Given the description of an element on the screen output the (x, y) to click on. 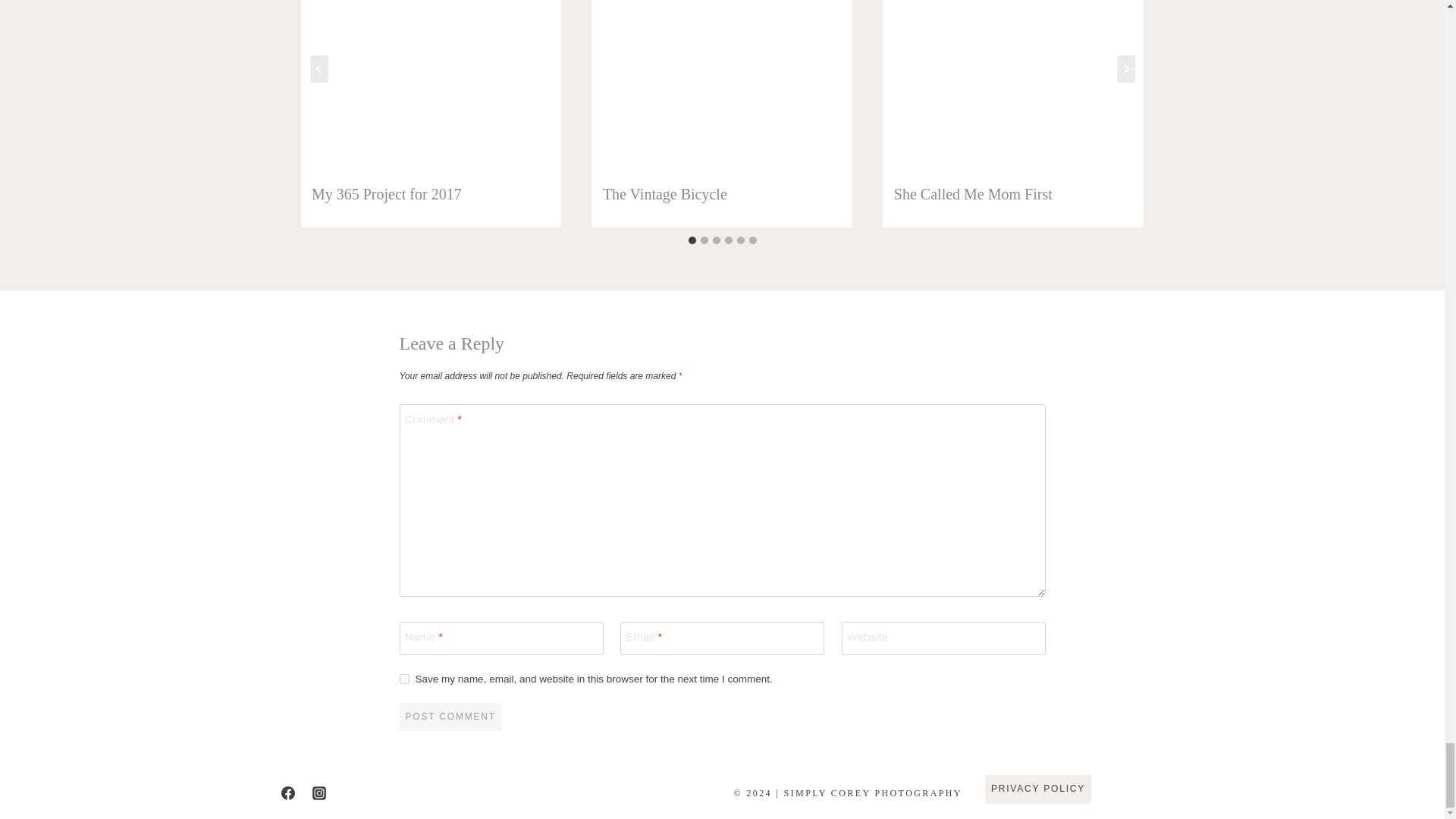
yes (403, 678)
Post Comment (449, 717)
